Given the description of an element on the screen output the (x, y) to click on. 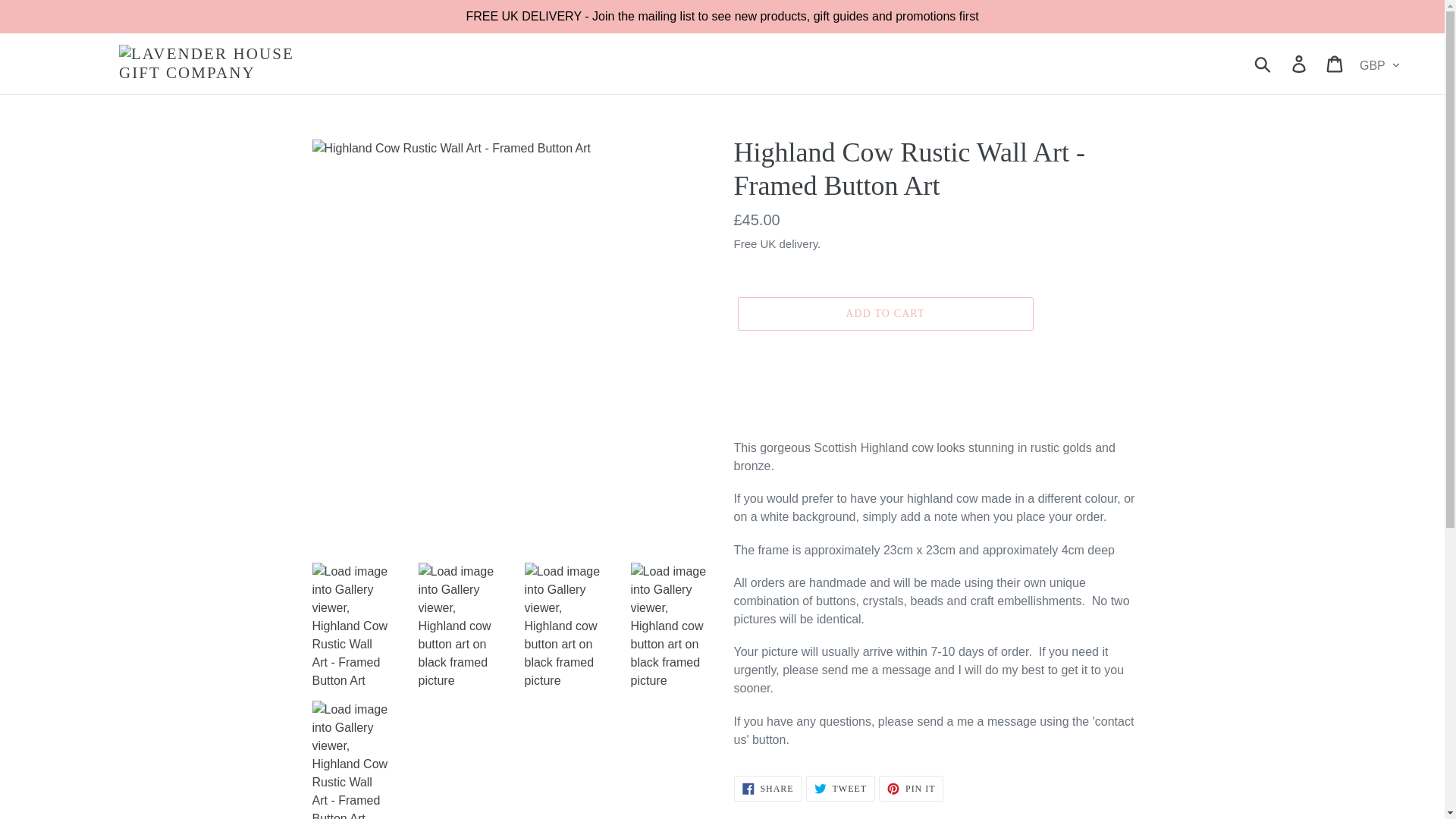
Log in (1299, 63)
Submit (1263, 63)
Cart (1335, 63)
